Given the description of an element on the screen output the (x, y) to click on. 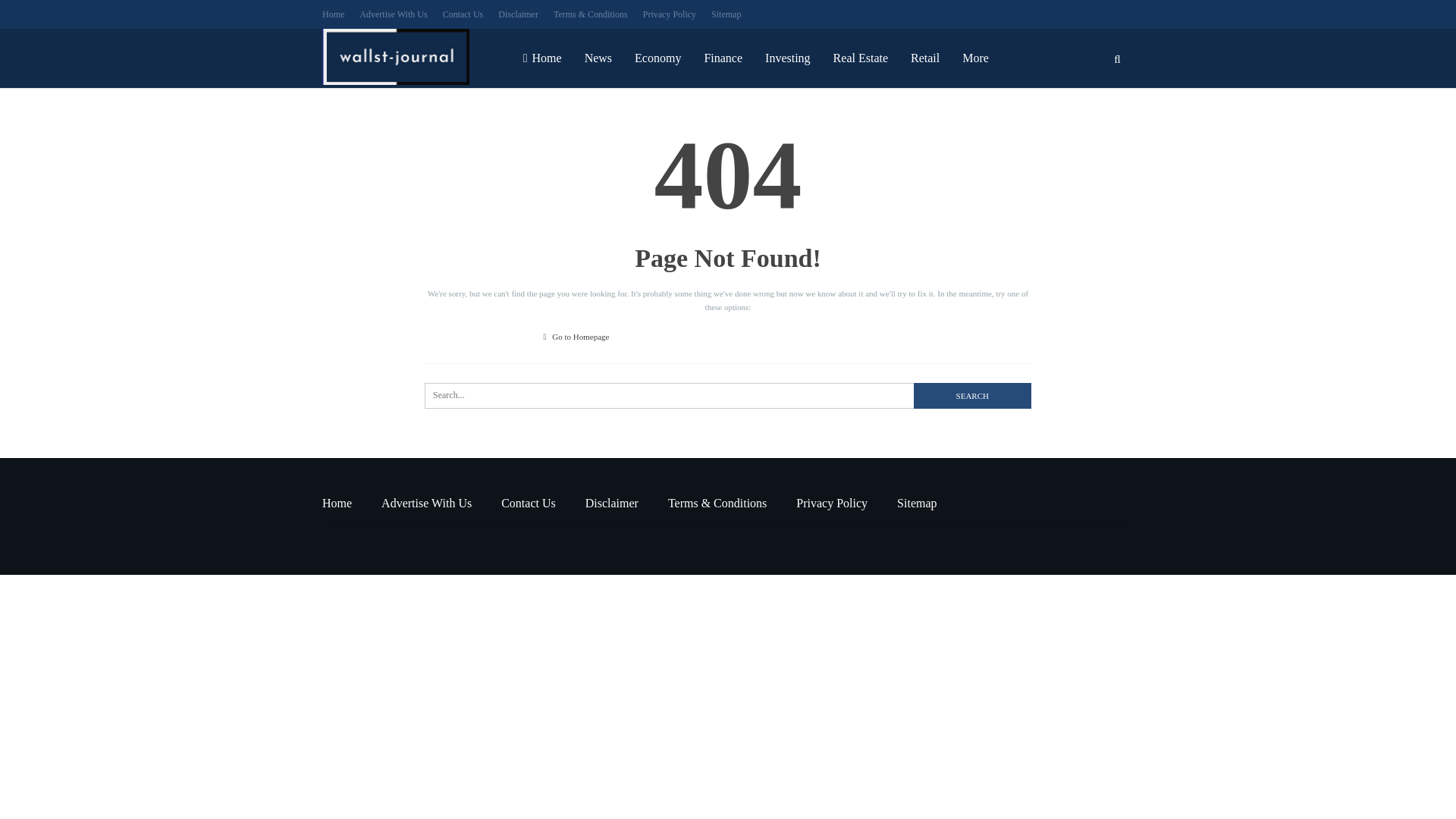
Disclaimer (612, 502)
Privacy Policy (831, 502)
Real Estate (860, 57)
Search (972, 395)
Home (542, 57)
Sitemap (916, 502)
Advertise With Us (392, 14)
Search for: (727, 395)
Sitemap (726, 14)
Economy (658, 57)
Disclaimer (517, 14)
Advertise With Us (426, 502)
Search (972, 395)
Home (336, 502)
Finance (723, 57)
